Given the description of an element on the screen output the (x, y) to click on. 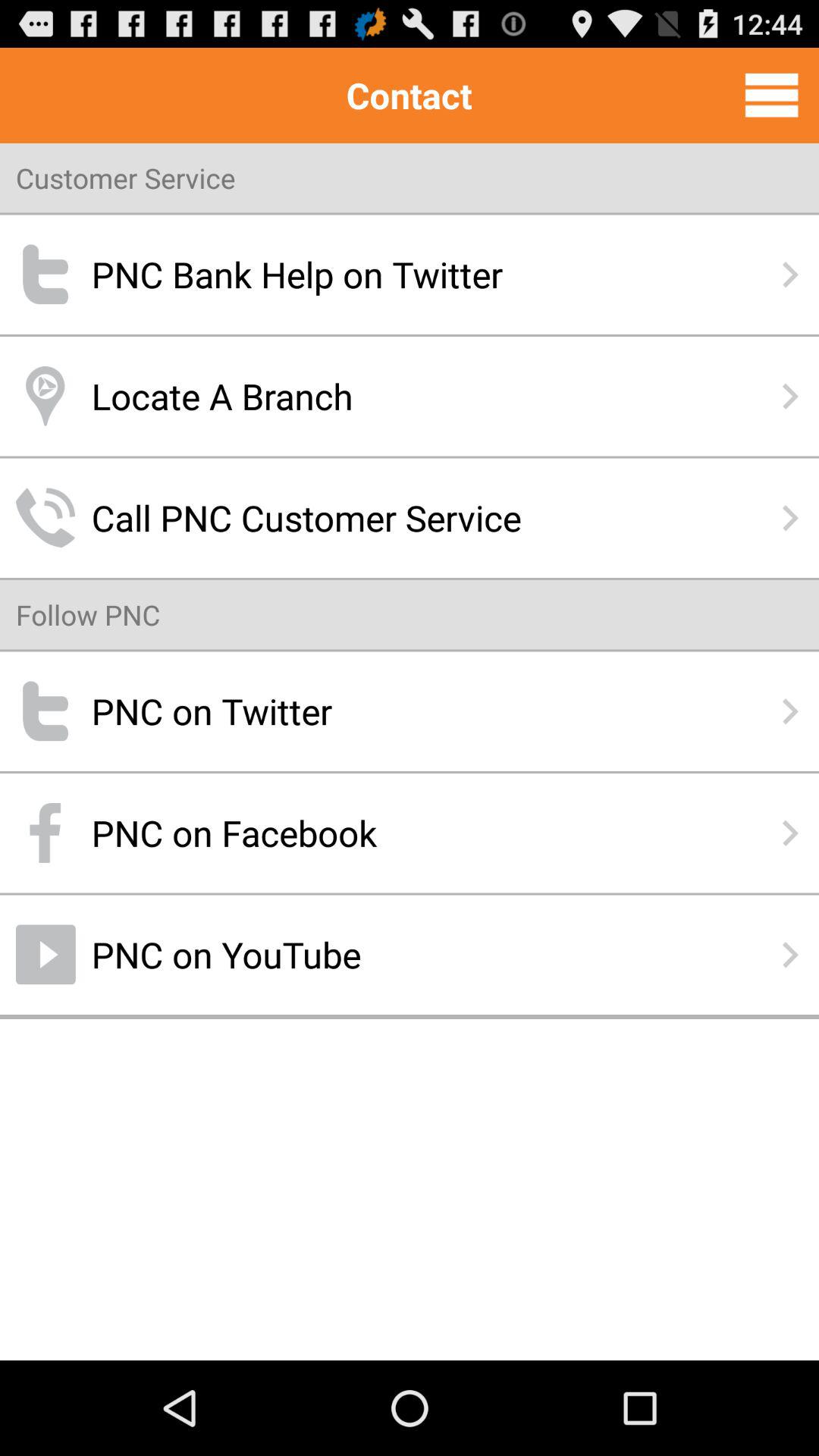
it shows main menu (771, 95)
